Given the description of an element on the screen output the (x, y) to click on. 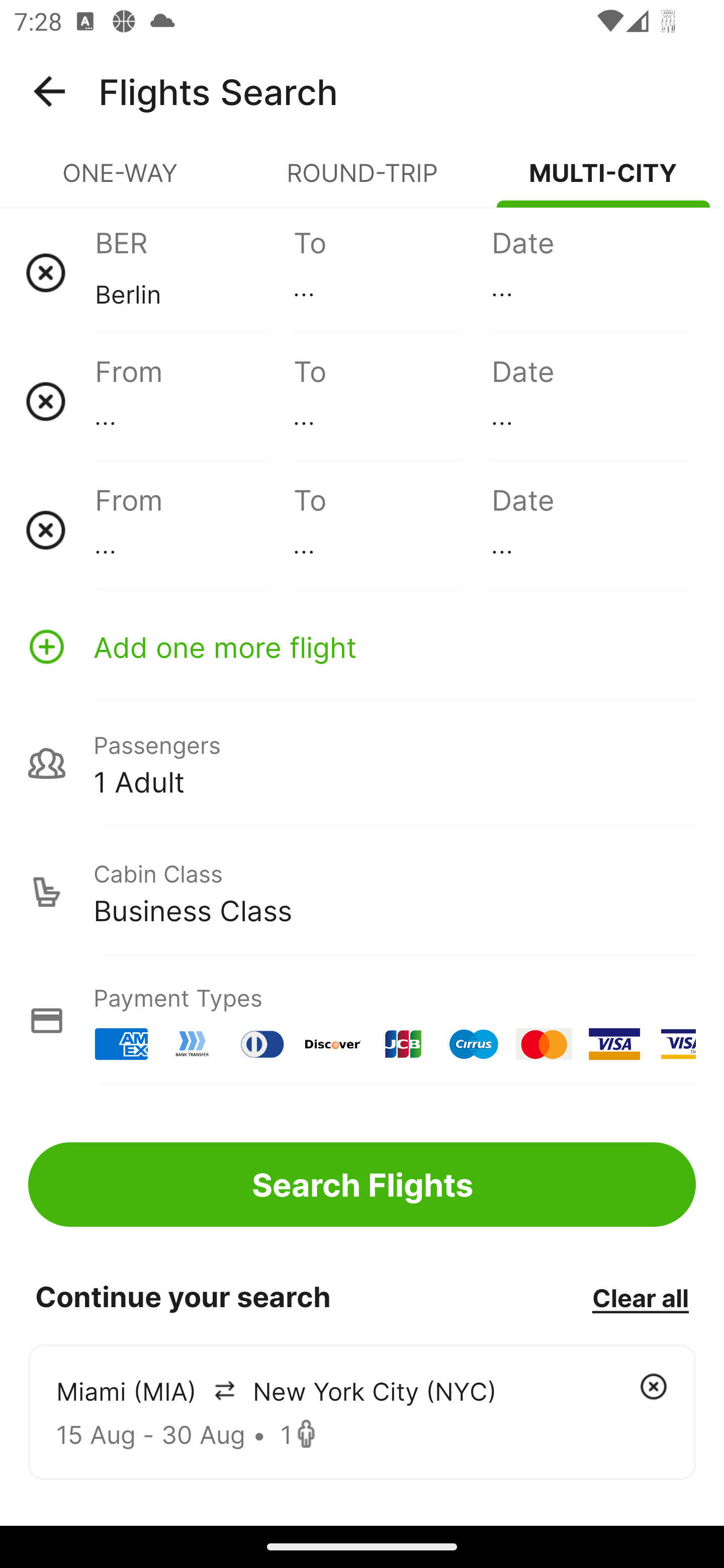
ONE-WAY (120, 180)
ROUND-TRIP (361, 180)
MULTI-CITY (603, 180)
BER Berlin (193, 272)
To ⋯ (392, 272)
Date ⋯ (590, 272)
From ⋯ (193, 401)
To ⋯ (392, 401)
Date ⋯ (590, 401)
From ⋯ (193, 529)
To ⋯ (392, 529)
Date ⋯ (590, 529)
Add one more flight (362, 646)
Passengers 1 Adult (362, 762)
Cabin Class Business Class (362, 891)
Payment Types (362, 1020)
Search Flights (361, 1184)
Clear all (640, 1297)
